Given the description of an element on the screen output the (x, y) to click on. 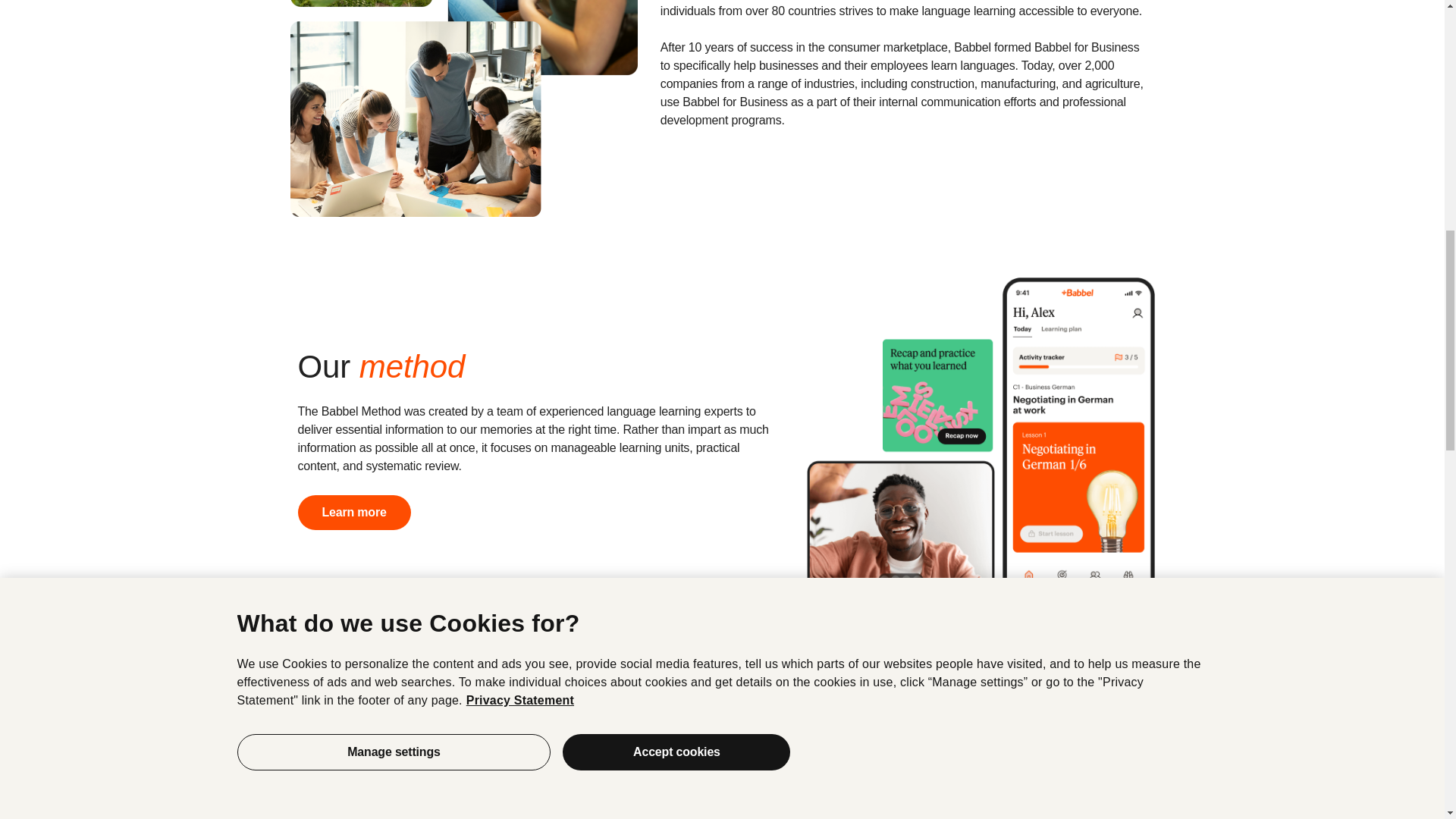
Learn more (353, 512)
